Given the description of an element on the screen output the (x, y) to click on. 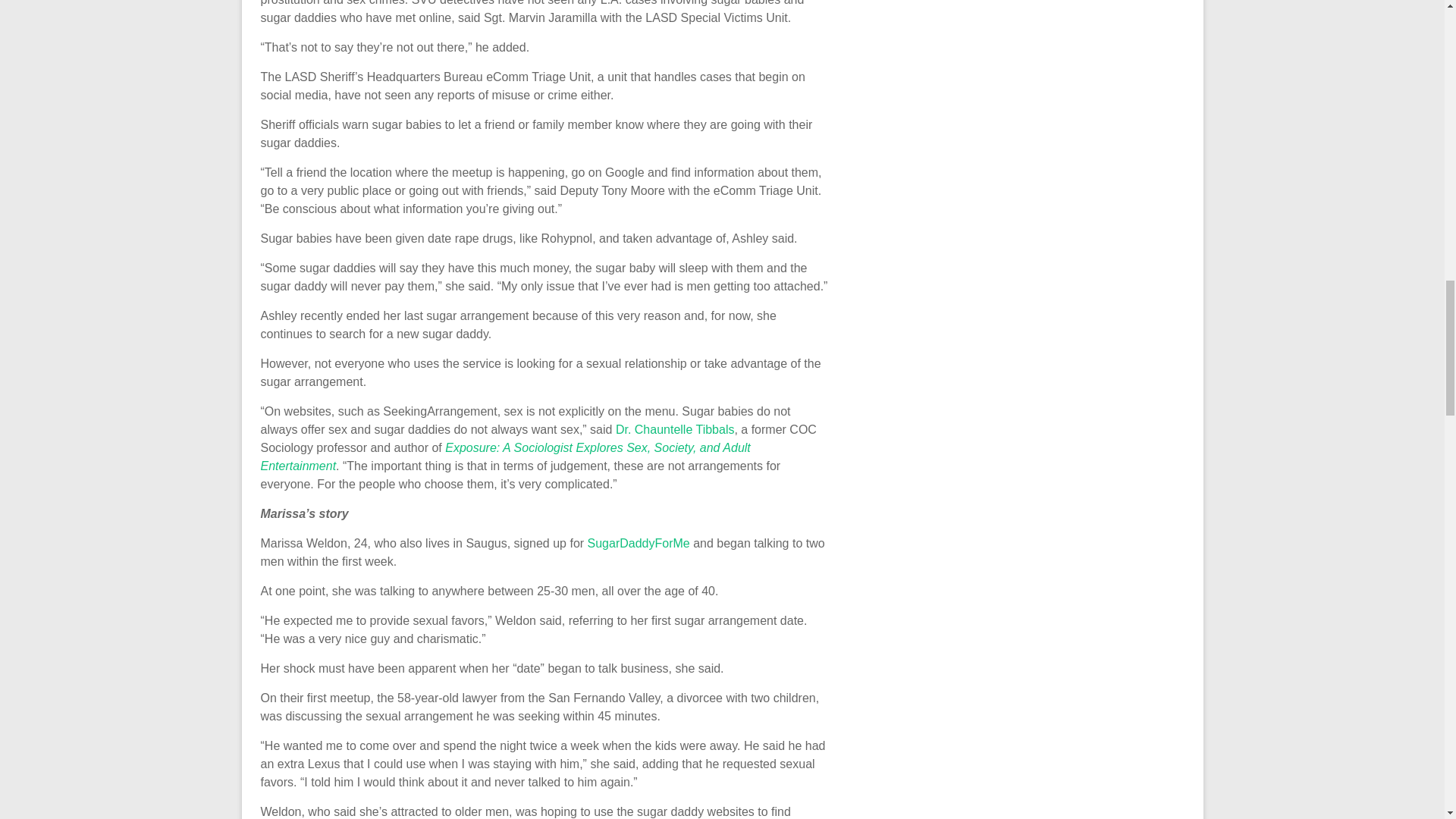
Dr. Chauntelle Tibbals (675, 429)
SugarDaddyForMe (639, 543)
SugarDaddyForMe (639, 543)
Dr. Chauntelle Tibbals Twitter Account (675, 429)
